Given the description of an element on the screen output the (x, y) to click on. 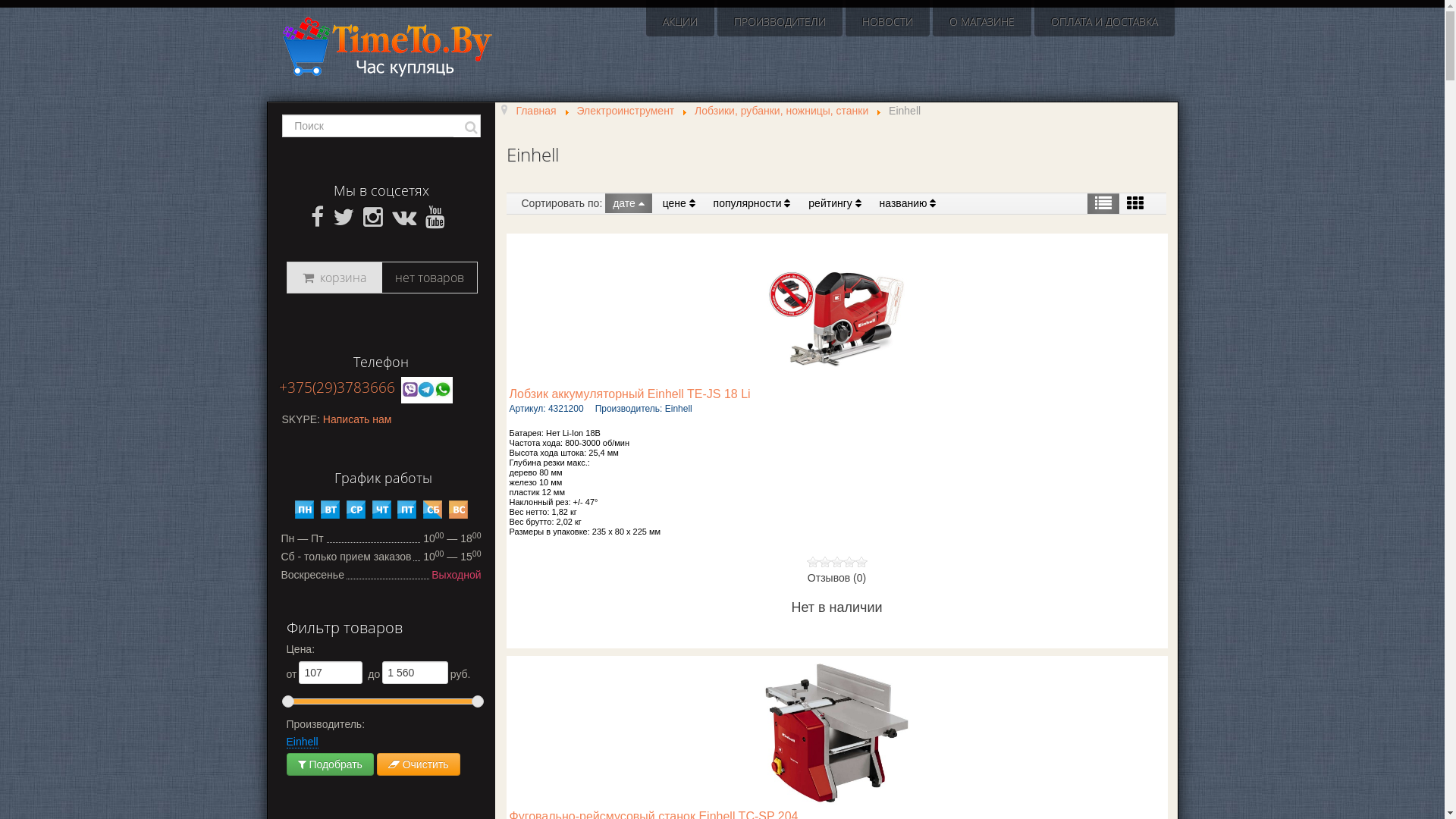
+375(29)3783666 Element type: text (337, 386)
